Given the description of an element on the screen output the (x, y) to click on. 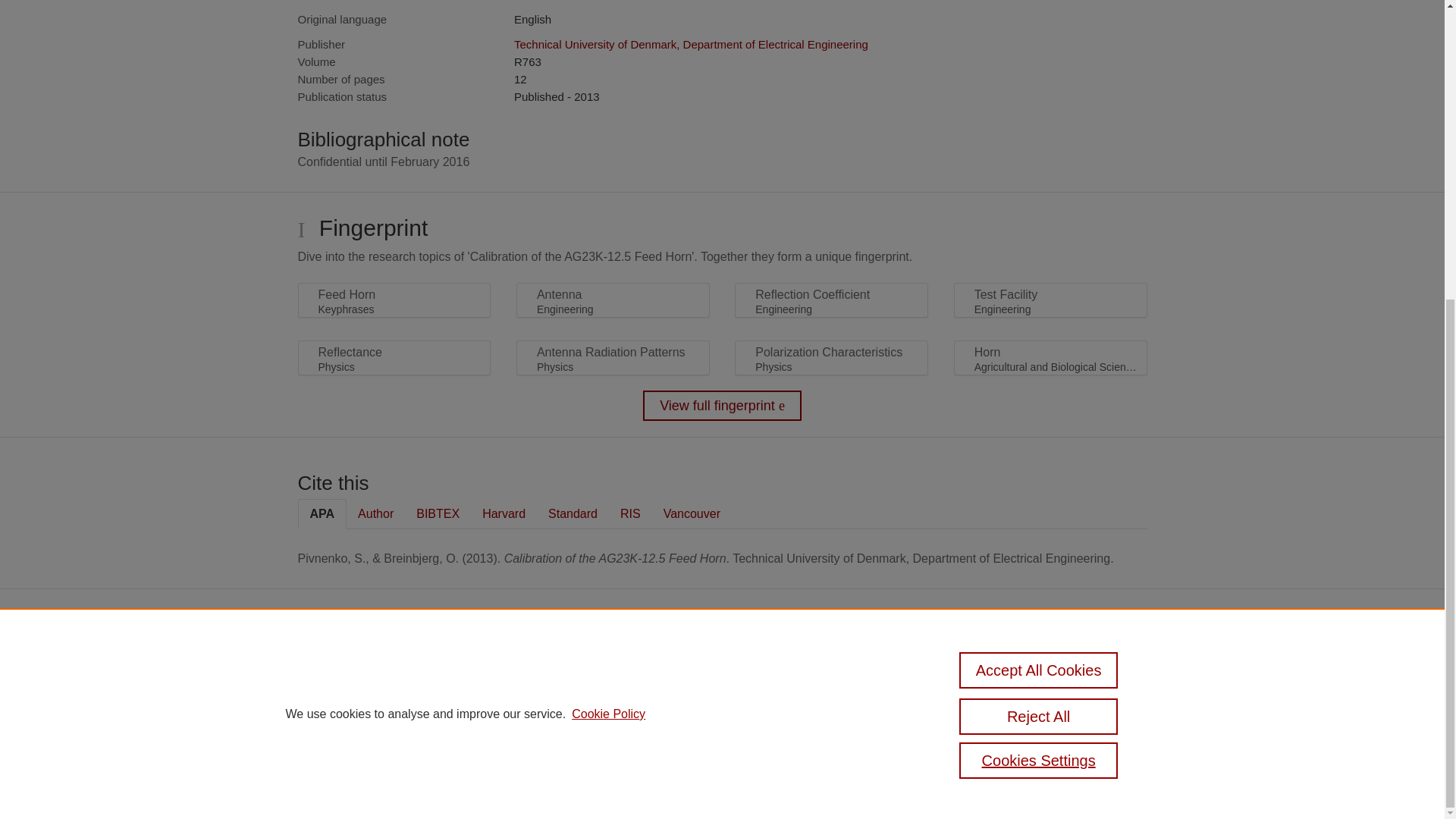
Welcome to DTU Research Database data protection policy (1007, 675)
Cookies Settings (494, 760)
Log in to DTU Orbit (499, 781)
Pure (521, 664)
Elsevier B.V. (665, 685)
Report vulnerability (989, 727)
use of cookies (503, 739)
View full fingerprint (722, 405)
About web accessibility (998, 707)
